Given the description of an element on the screen output the (x, y) to click on. 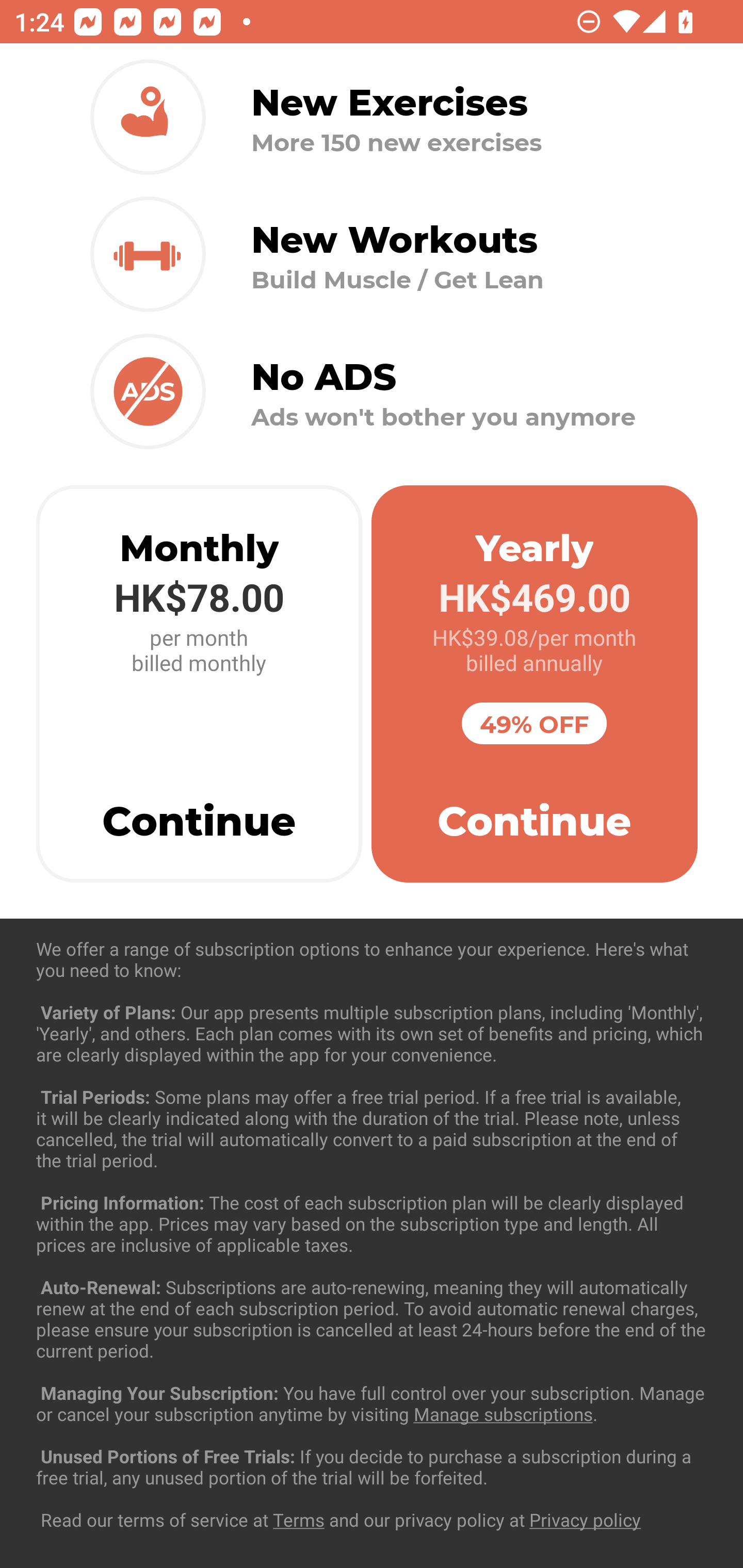
Monthly HK$78.00 per month
billed monthly Continue (199, 684)
Exercise Chest 37 exercises (371, 1033)
Exercise Forearms 4 exercises (371, 1232)
Exercise Legs 36 exercises (371, 1430)
